Given the description of an element on the screen output the (x, y) to click on. 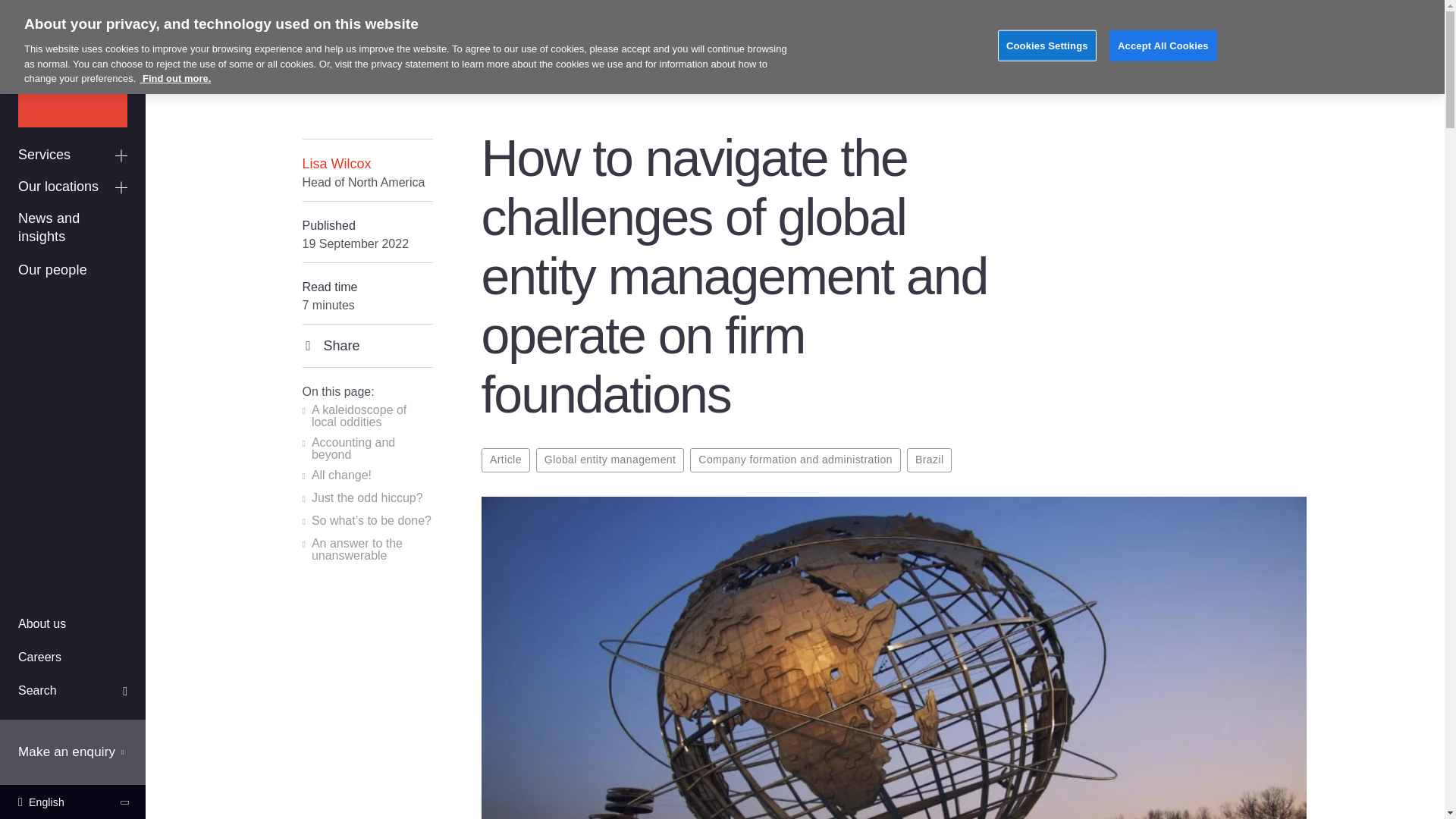
An answer to the unanswerable (366, 549)
Language (72, 801)
Services (72, 155)
Article (504, 459)
English (72, 801)
About us (72, 624)
Just the odd hiccup? (361, 498)
Accounting and beyond (366, 448)
Company formation and administration (795, 459)
News and insights (72, 228)
